Given the description of an element on the screen output the (x, y) to click on. 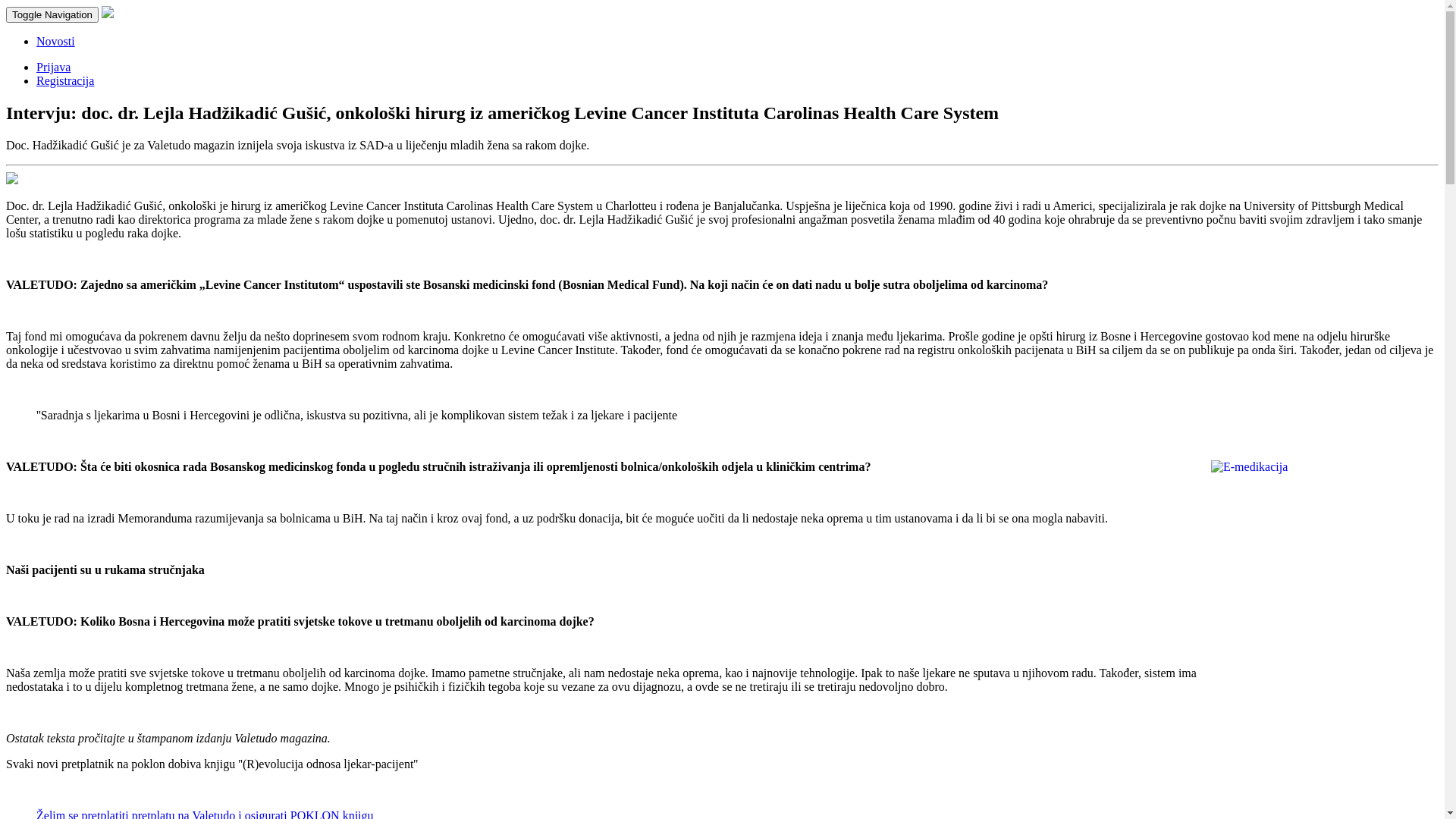
Prijava Element type: text (53, 66)
Registracija Element type: text (65, 80)
Novosti Element type: text (55, 40)
Toggle Navigation Element type: text (52, 14)
